Given the description of an element on the screen output the (x, y) to click on. 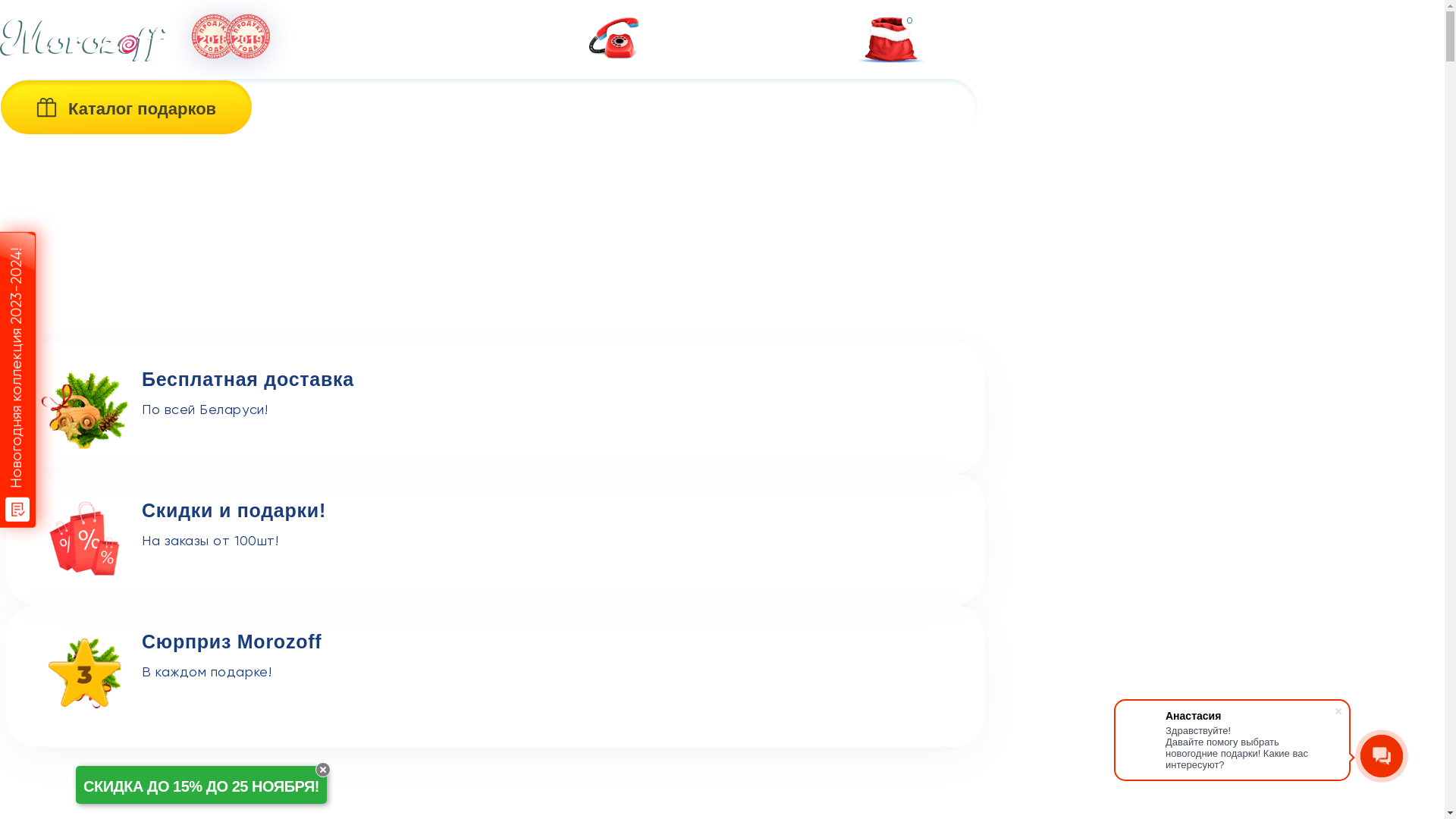
+375 (29) 650-99-44 Element type: text (727, 53)
+375 (17) 366-46-44 Element type: text (727, 25)
